Given the description of an element on the screen output the (x, y) to click on. 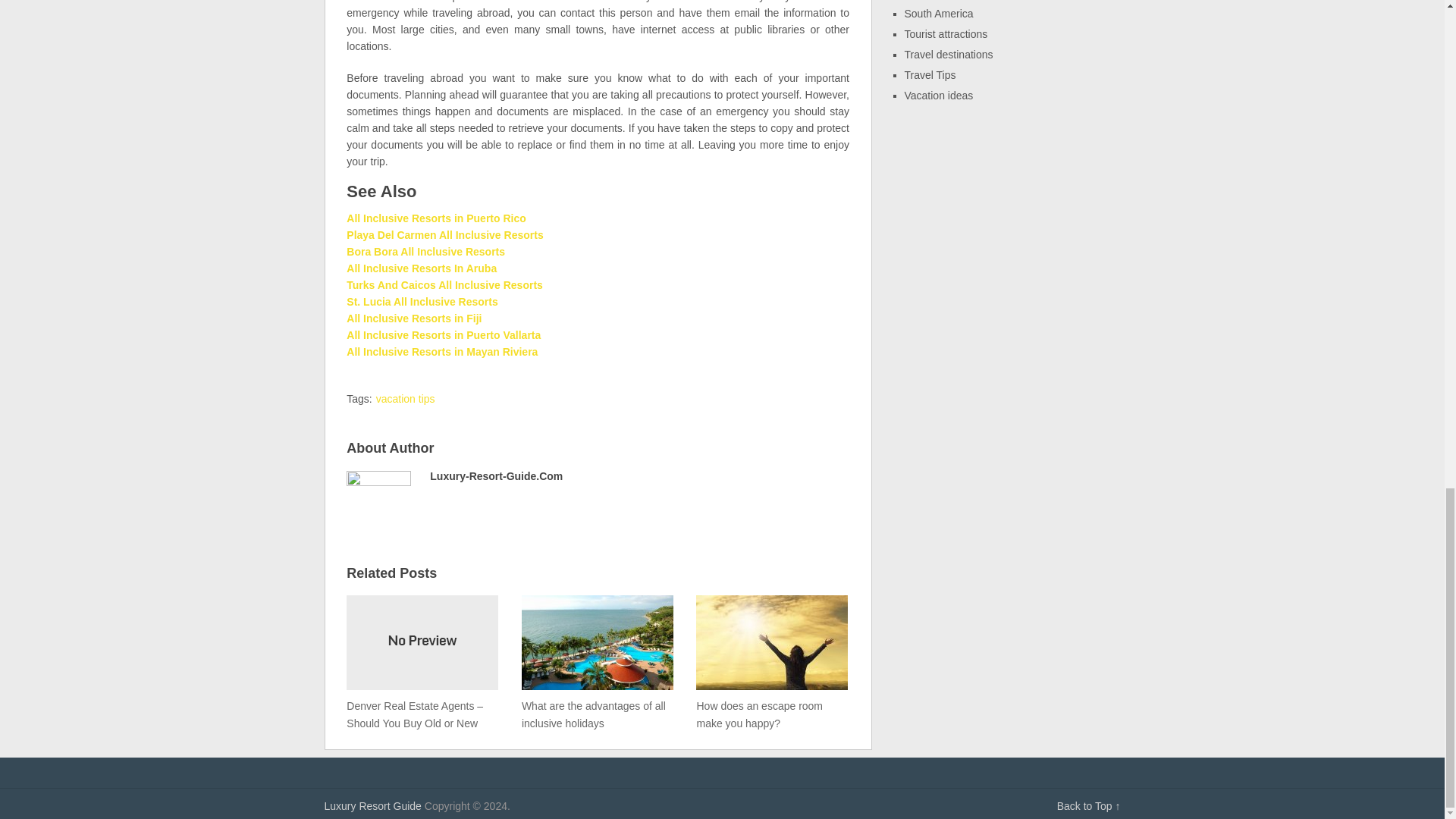
All Inclusive Resorts In Aruba (421, 268)
All Inclusive Resorts in Fiji (413, 318)
All Inclusive Resorts in Puerto Rico (435, 218)
Turks And Caicos All Inclusive Resorts (444, 285)
Playa Del Carmen All Inclusive Resorts (444, 234)
St. Lucia All Inclusive Resorts (421, 301)
Luxury Holidays (373, 806)
Bora Bora All Inclusive Resorts (425, 251)
